Given the description of an element on the screen output the (x, y) to click on. 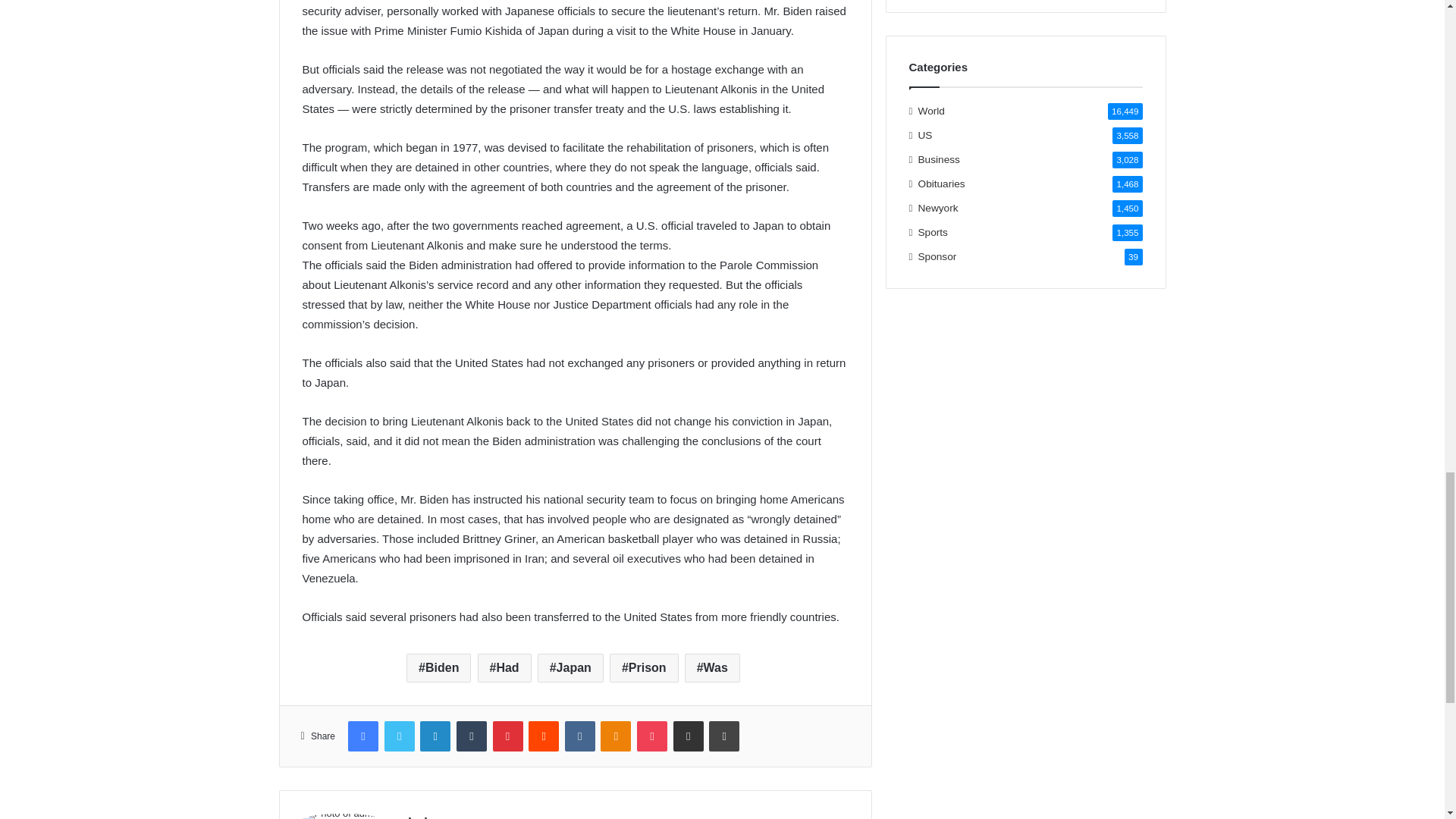
Prison (644, 667)
Twitter (399, 736)
Biden (438, 667)
Facebook (362, 736)
Tumblr (471, 736)
Had (504, 667)
LinkedIn (434, 736)
Was (711, 667)
Japan (570, 667)
